Given the description of an element on the screen output the (x, y) to click on. 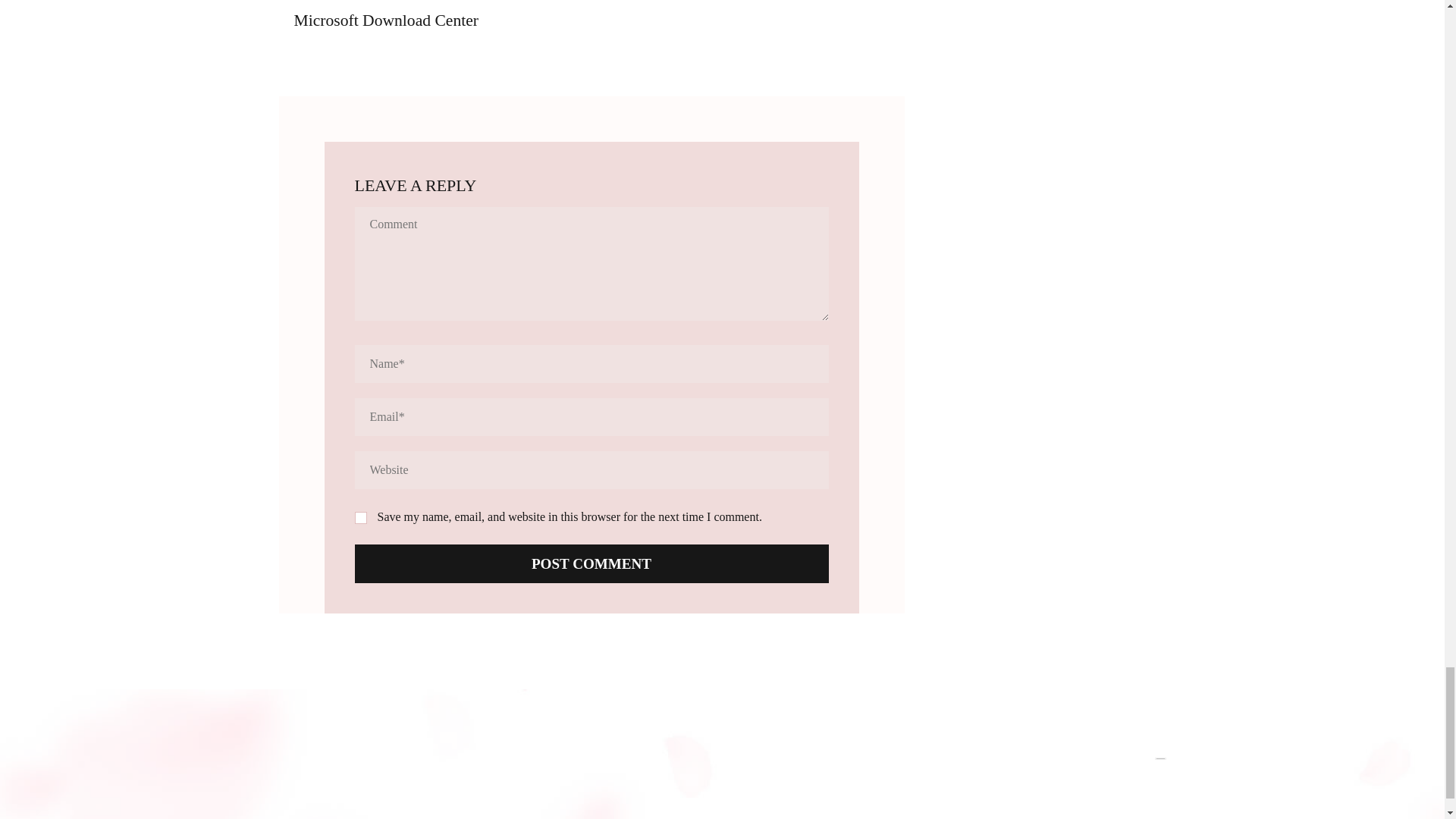
Post Comment (591, 563)
Post Comment (591, 563)
